Given the description of an element on the screen output the (x, y) to click on. 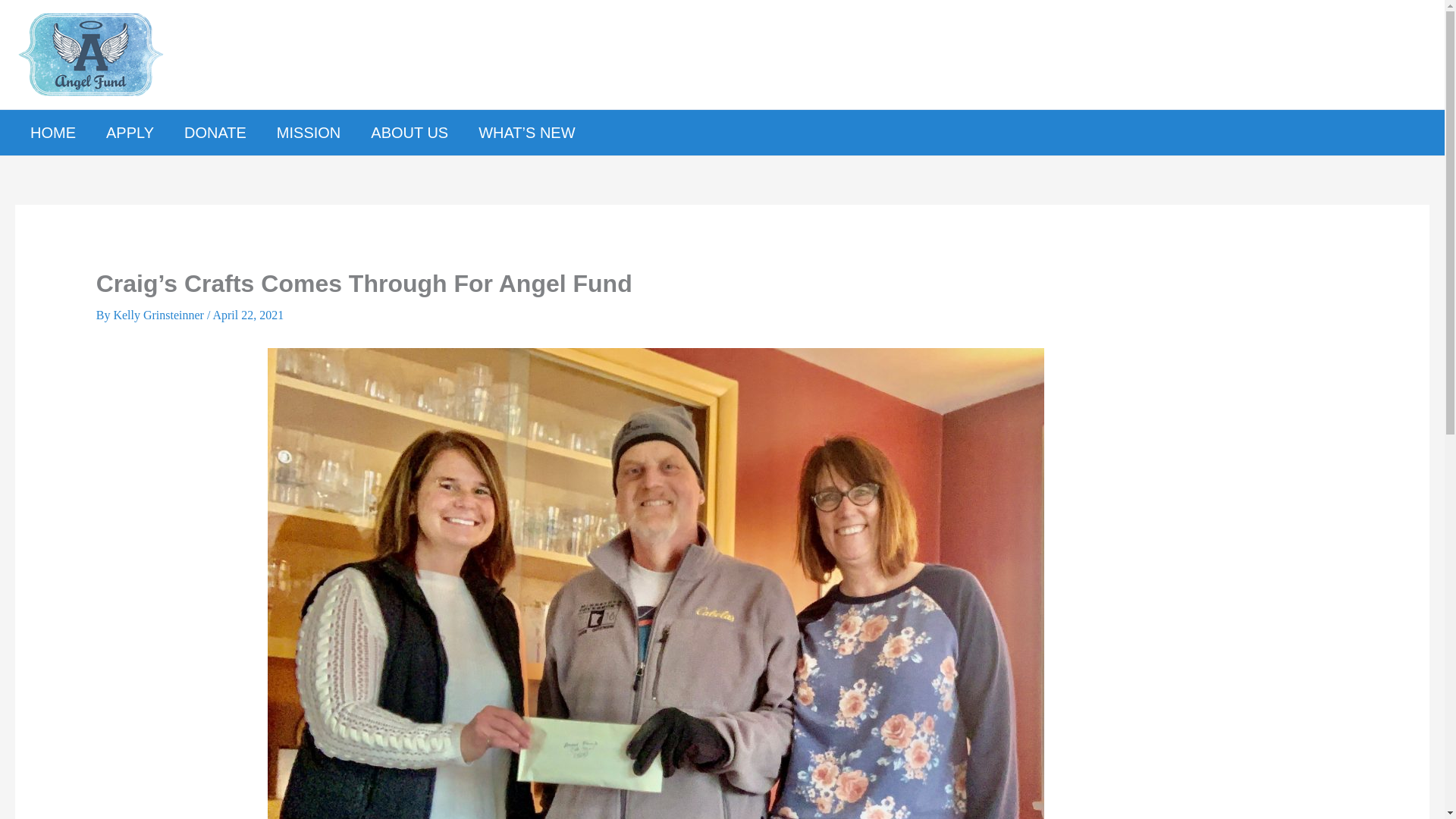
View all posts by Kelly Grinsteinner (159, 314)
APPLY (129, 132)
ABOUT US (409, 132)
DONATE (215, 132)
Kelly Grinsteinner (159, 314)
HOME (52, 132)
MISSION (308, 132)
